Given the description of an element on the screen output the (x, y) to click on. 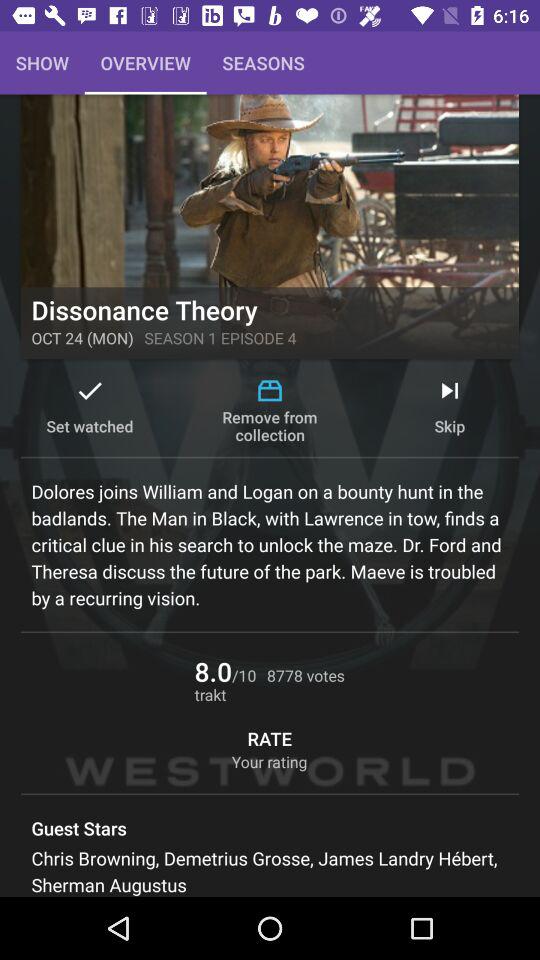
select skip on the right (450, 410)
